Given the description of an element on the screen output the (x, y) to click on. 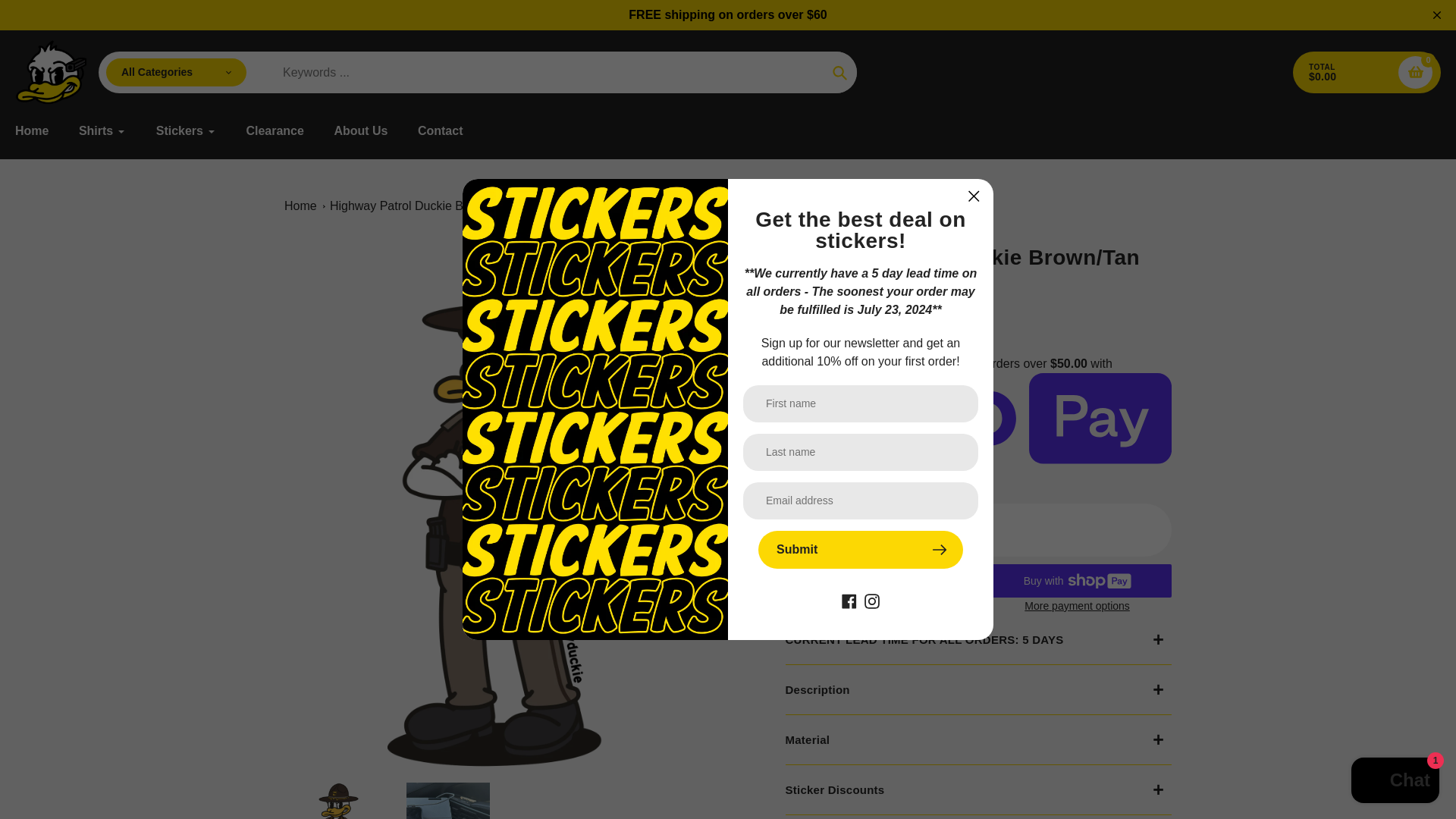
Deputy Duckie (820, 282)
1 (933, 529)
Shopify online store chat (1395, 781)
Search (839, 72)
Contact (440, 131)
Shirts (101, 131)
Facebook (849, 599)
All Categories (176, 72)
Instagram (871, 599)
Home (31, 131)
About Us (360, 131)
Clearance (275, 131)
Stickers (185, 131)
0 (1414, 72)
